Given the description of an element on the screen output the (x, y) to click on. 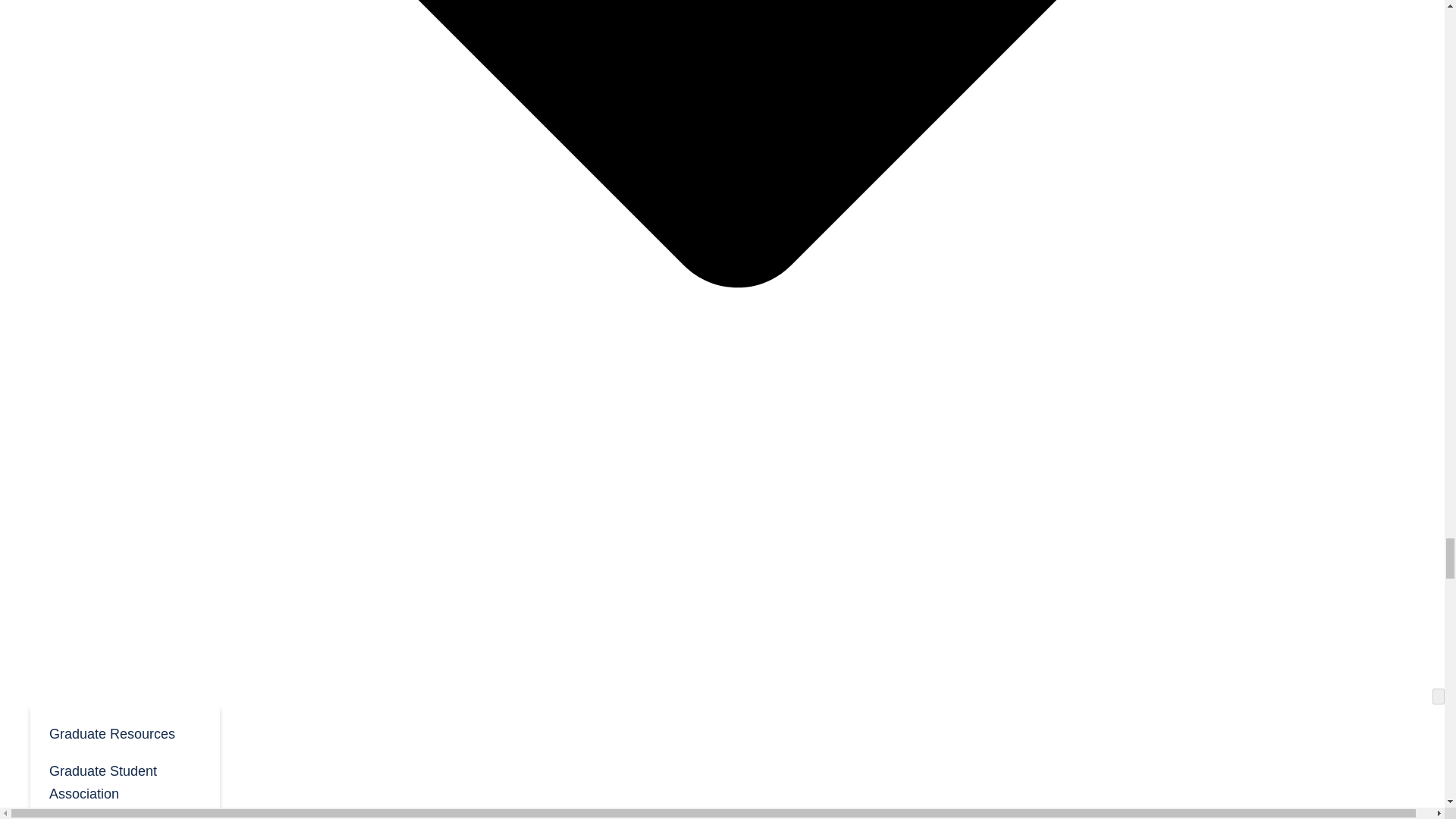
Library Guides (125, 815)
Graduate Resources (125, 732)
Graduate Student Association (125, 781)
